Given the description of an element on the screen output the (x, y) to click on. 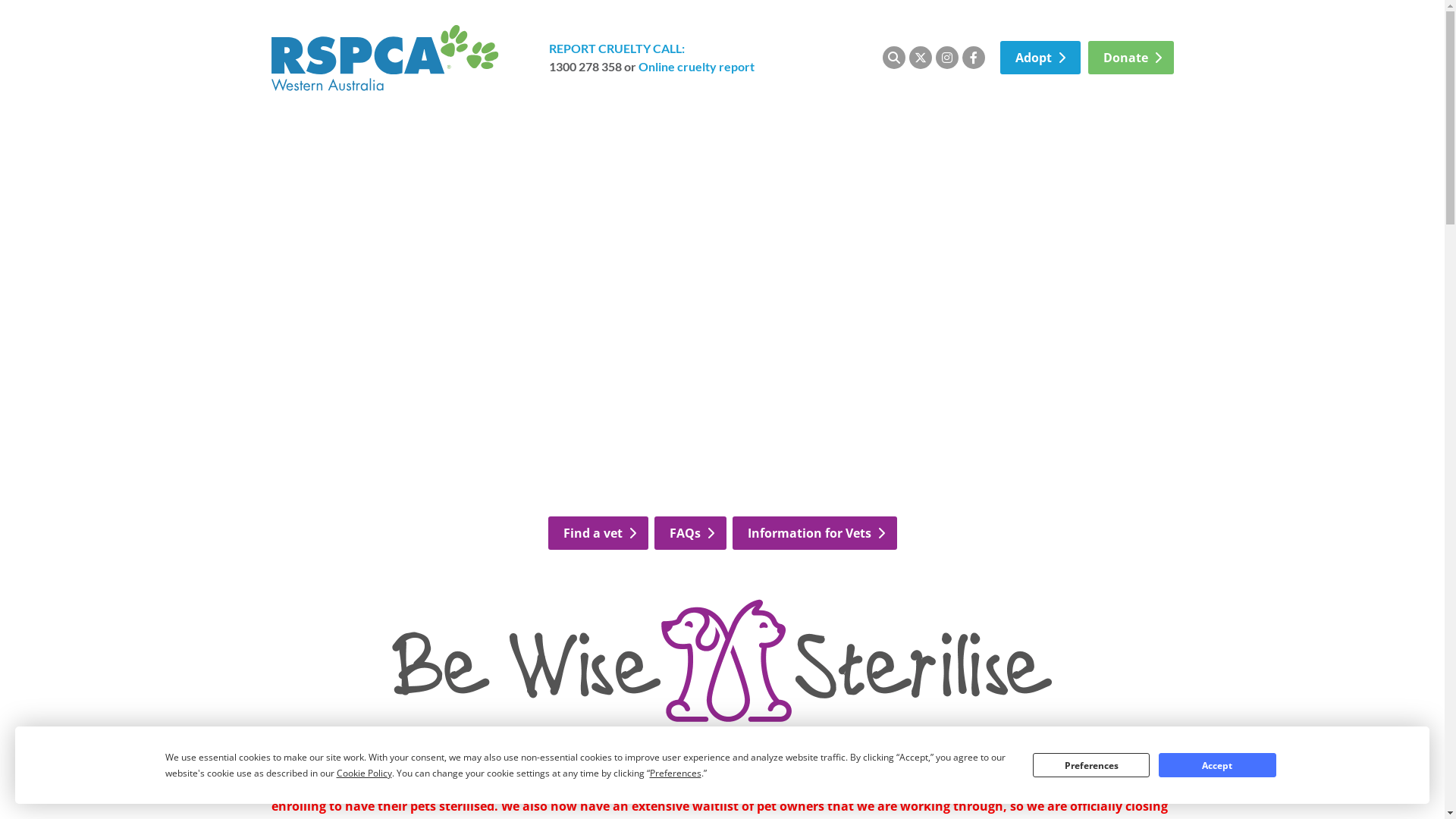
Search Element type: hover (881, 57)
RSPCA WA Element type: text (384, 57)
Find a vet Element type: text (597, 532)
Preferences Element type: text (1090, 765)
RSPCA WA Be Wise Sterilise campaign logo Element type: hover (721, 660)
Accept Element type: text (1216, 765)
Online cruelty report Element type: text (696, 66)
Twitter Element type: text (919, 57)
Instagram Element type: text (946, 57)
Search Element type: text (893, 57)
Adopt Element type: text (1039, 57)
Facebook Element type: text (972, 57)
Information for Vets Element type: text (814, 532)
FAQs Element type: text (689, 532)
Donate Element type: text (1130, 57)
